Given the description of an element on the screen output the (x, y) to click on. 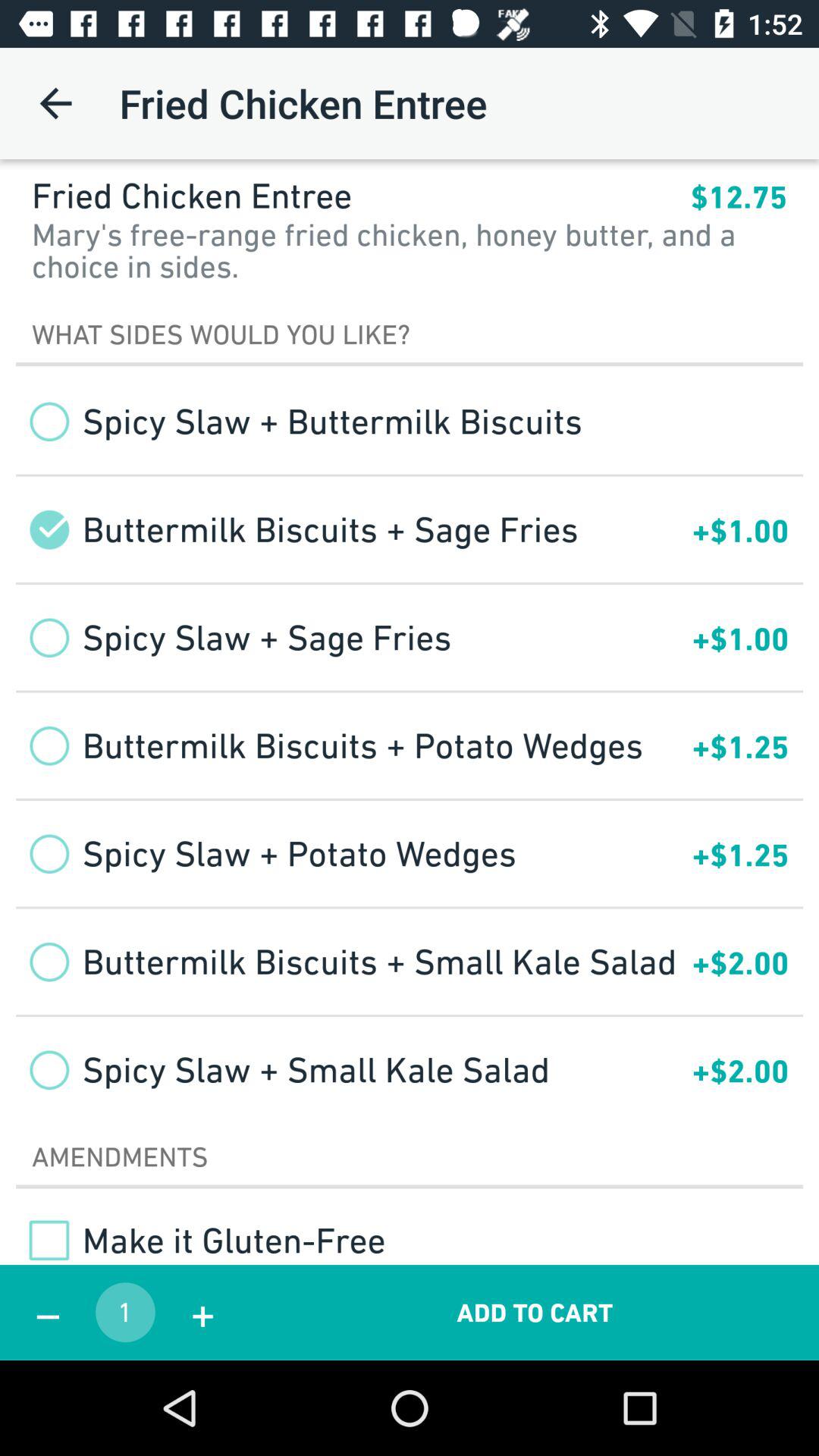
press the app above mary s free (738, 197)
